Given the description of an element on the screen output the (x, y) to click on. 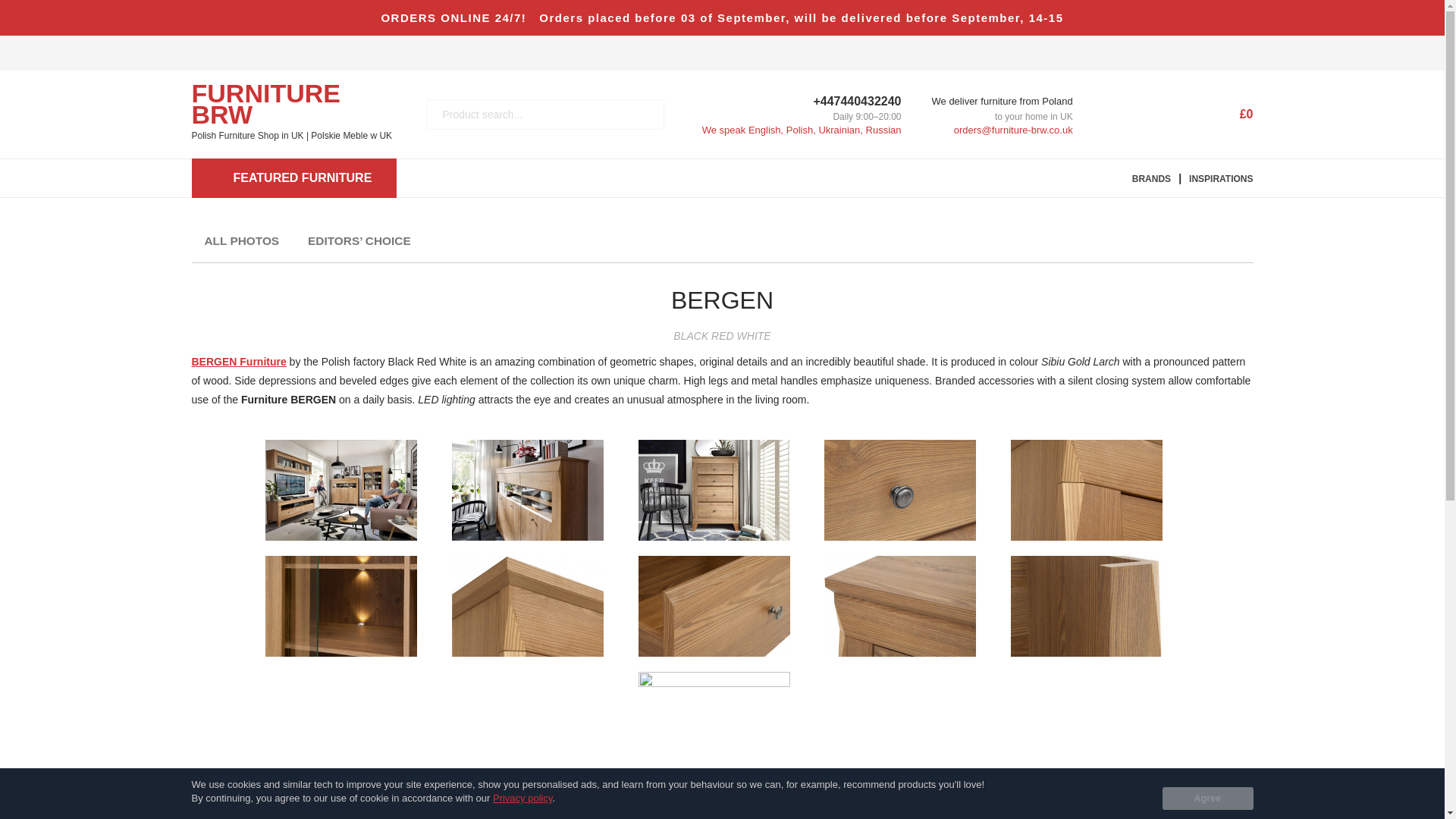
Compare (1170, 114)
Favorites (1125, 114)
BERGEN Modern Furniture (237, 361)
